Given the description of an element on the screen output the (x, y) to click on. 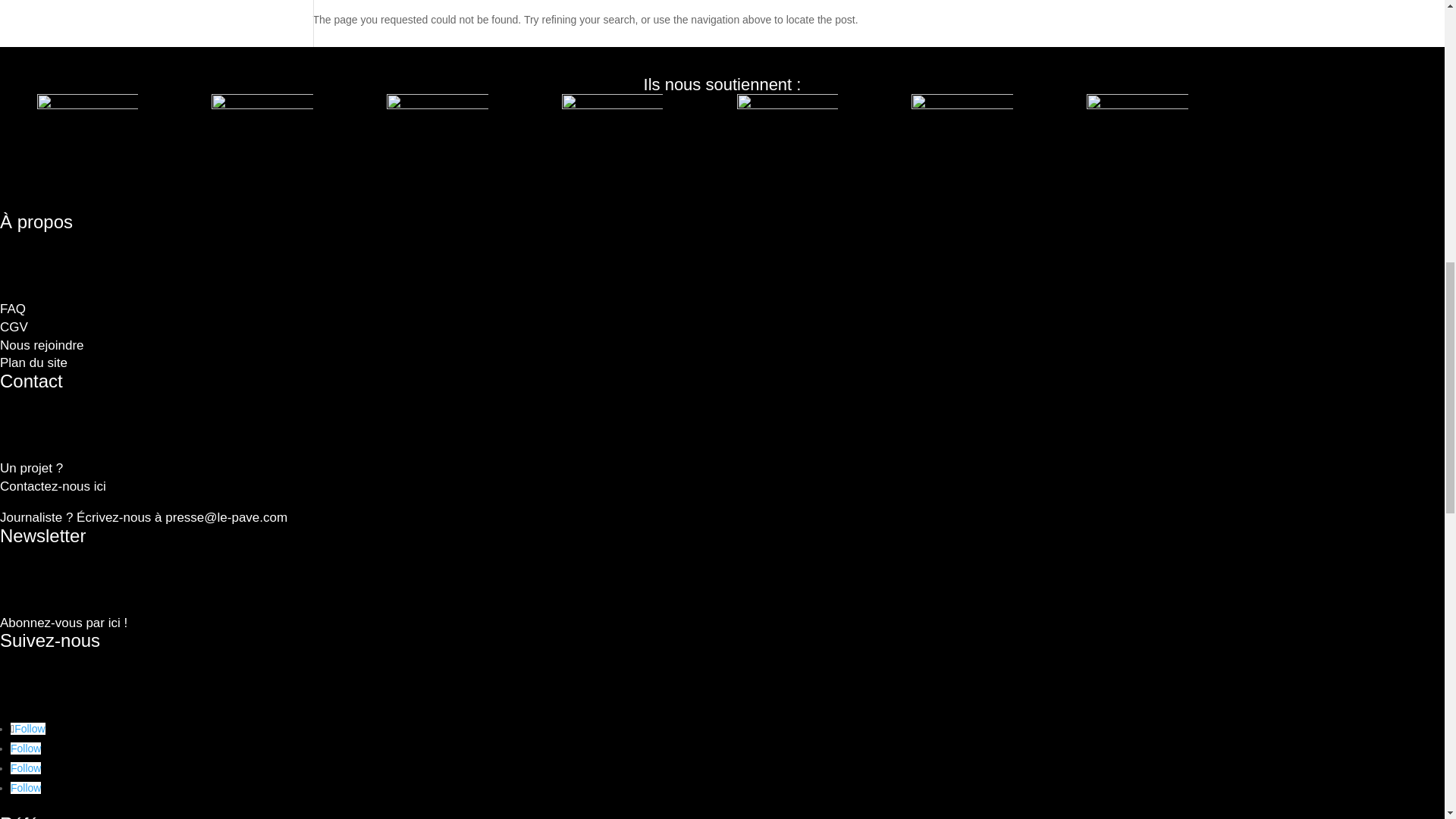
Follow (27, 728)
Follow on Instagram (27, 728)
Follow on LinkedIn (25, 748)
Nous rejoindre (42, 345)
Plan du site (33, 362)
Follow on Pinterest (25, 767)
Follow on Youtube (45, 477)
CGV (25, 787)
FAQ (13, 327)
